Given the description of an element on the screen output the (x, y) to click on. 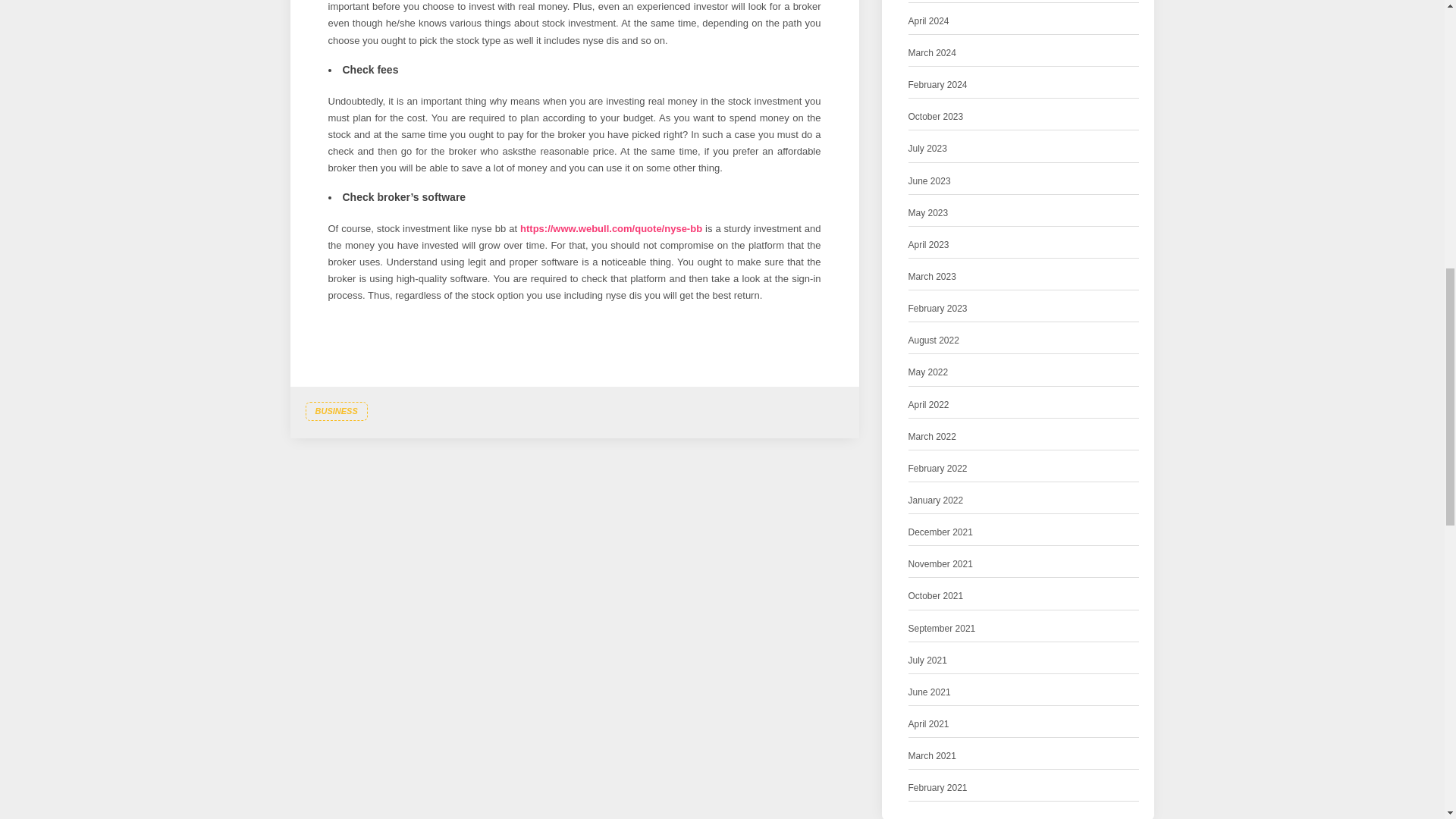
March 2023 (932, 277)
February 2024 (938, 84)
February 2022 (938, 468)
September 2021 (941, 627)
October 2021 (935, 596)
May 2022 (928, 372)
April 2022 (928, 405)
May 2023 (928, 213)
March 2024 (932, 53)
January 2022 (935, 500)
April 2024 (928, 21)
October 2023 (935, 116)
March 2022 (932, 437)
BUSINESS (335, 411)
July 2023 (927, 148)
